Given the description of an element on the screen output the (x, y) to click on. 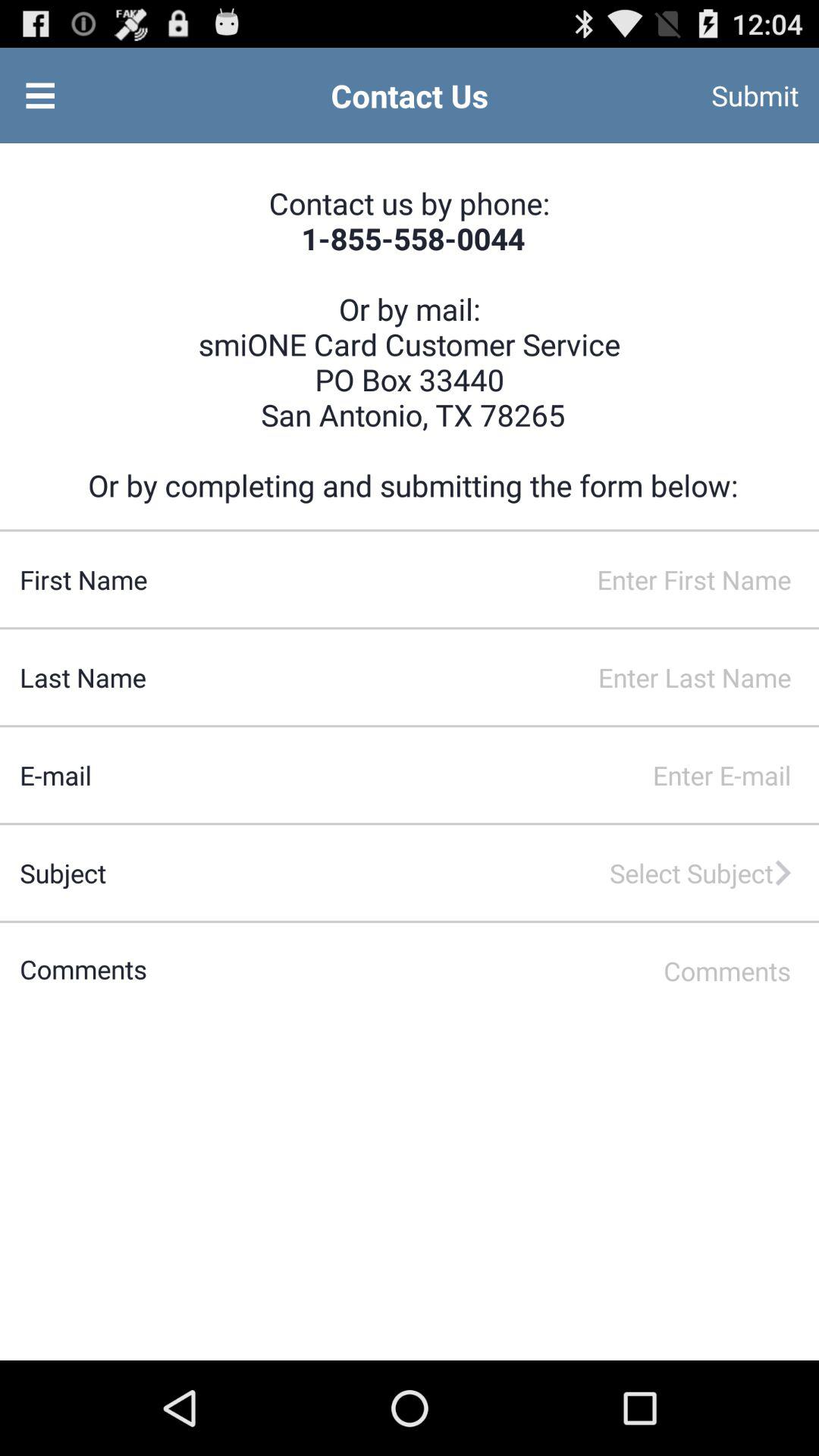
enter email space (455, 774)
